Given the description of an element on the screen output the (x, y) to click on. 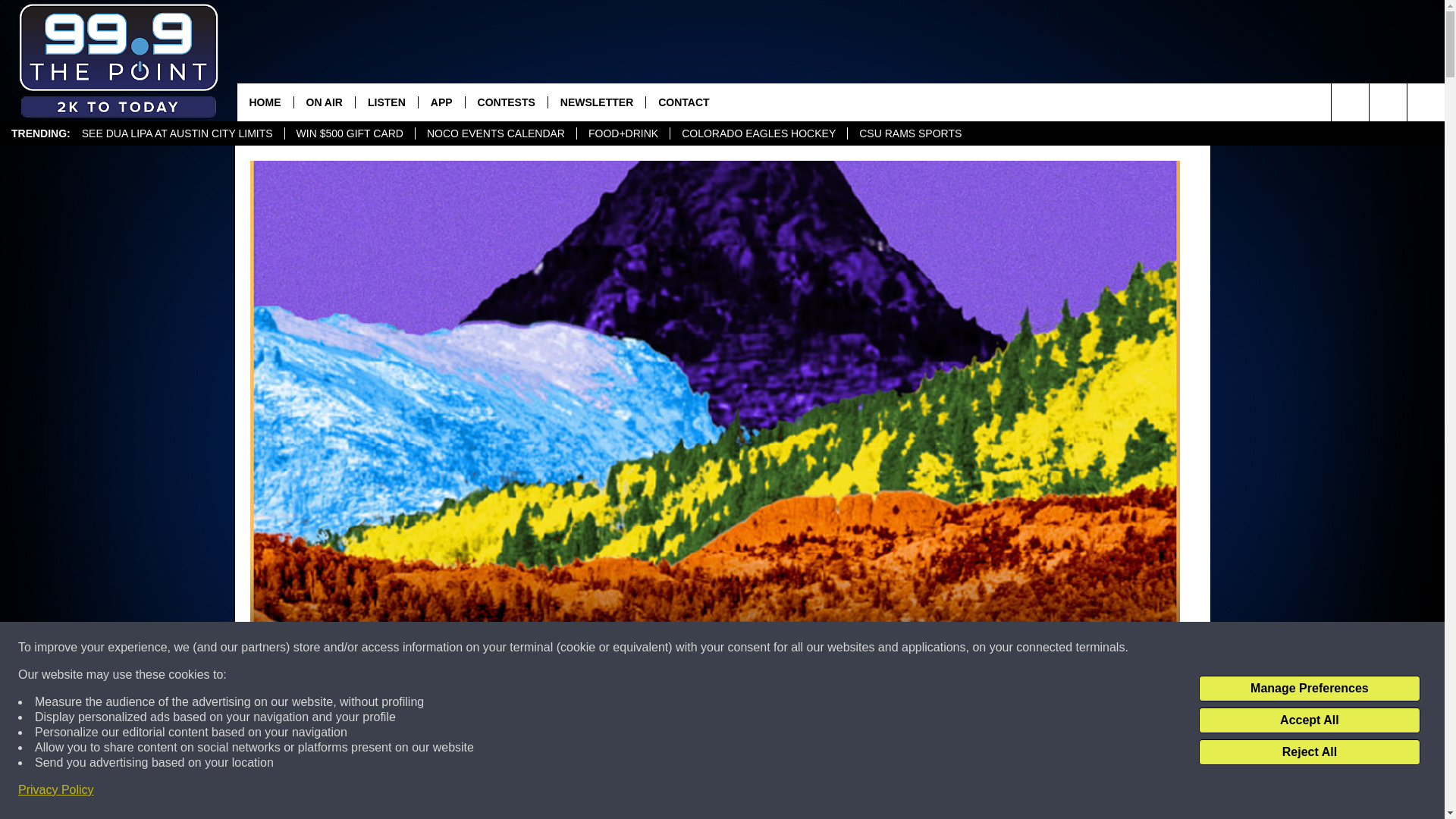
NOCO EVENTS CALENDAR (495, 133)
CSU RAMS SPORTS (909, 133)
APP (440, 102)
Accept All (1309, 720)
NEWSLETTER (596, 102)
Share on Facebook (517, 791)
LISTEN (386, 102)
CONTESTS (505, 102)
Reject All (1309, 751)
HOME (263, 102)
Share on Twitter (912, 791)
SEE DUA LIPA AT AUSTIN CITY LIMITS (176, 133)
Manage Preferences (1309, 688)
COLORADO EAGLES HOCKEY (758, 133)
ON AIR (322, 102)
